Given the description of an element on the screen output the (x, y) to click on. 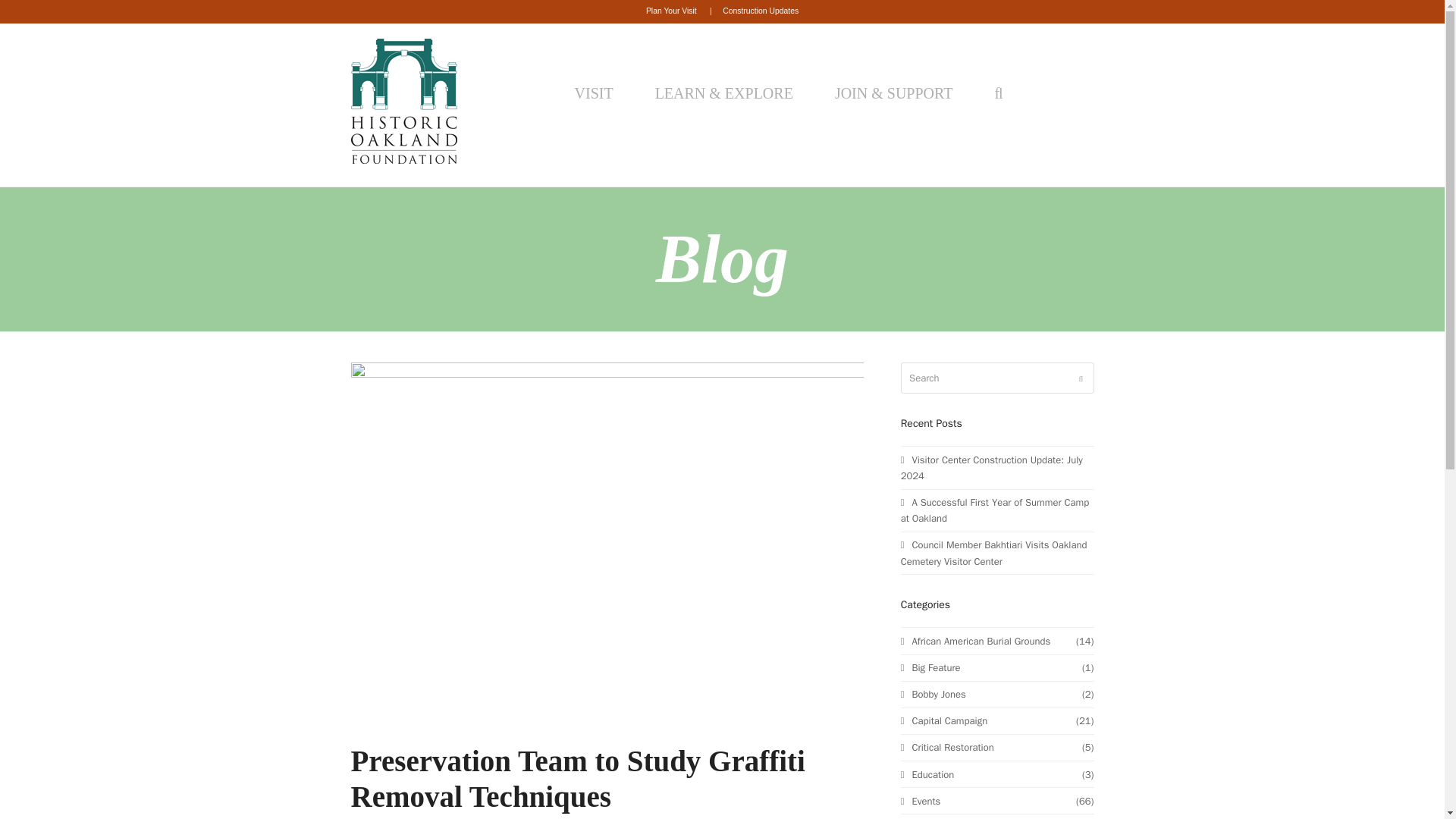
Plan Your Visit (671, 10)
VISIT (597, 93)
Construction Updates (759, 10)
